Given the description of an element on the screen output the (x, y) to click on. 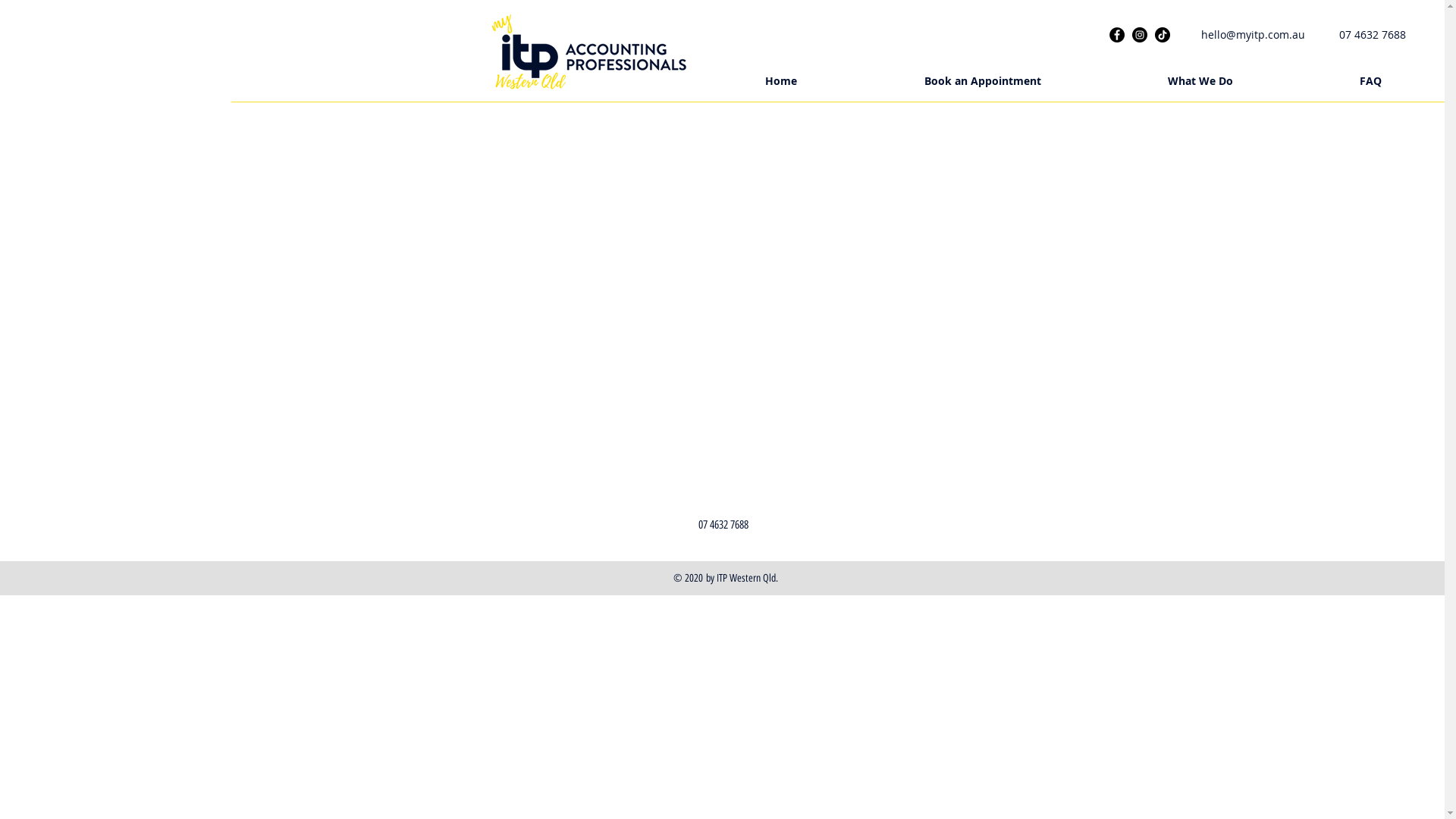
What We Do Element type: text (1199, 80)
hello@myitp.com.au Element type: text (1253, 34)
Book an Appointment Element type: text (982, 80)
Home Element type: text (780, 80)
